Given the description of an element on the screen output the (x, y) to click on. 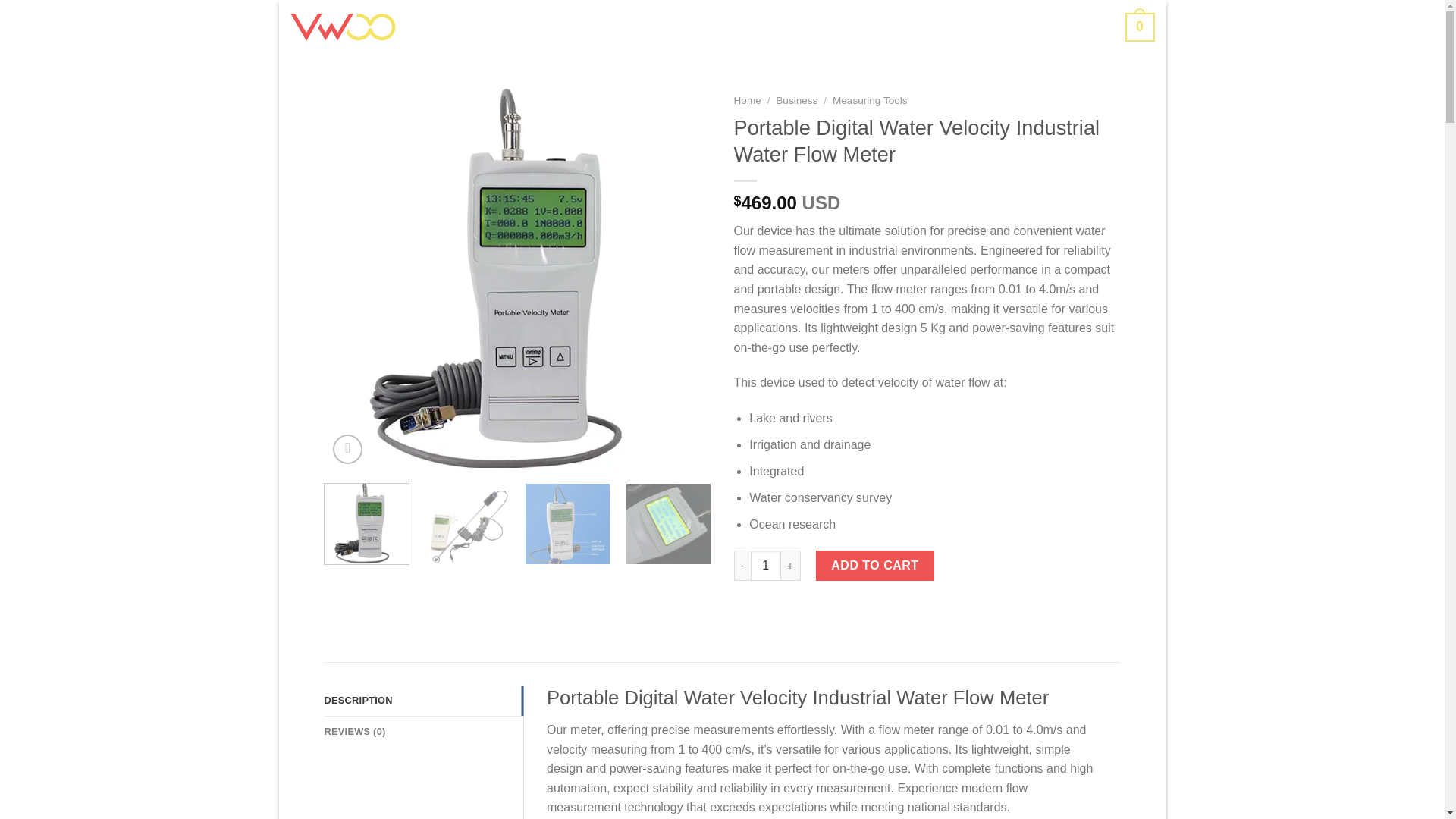
VWOO - Manufacturer of the Supply Chain (341, 27)
1 (765, 565)
BUSINESS (721, 27)
HEALTH (809, 27)
